Given the description of an element on the screen output the (x, y) to click on. 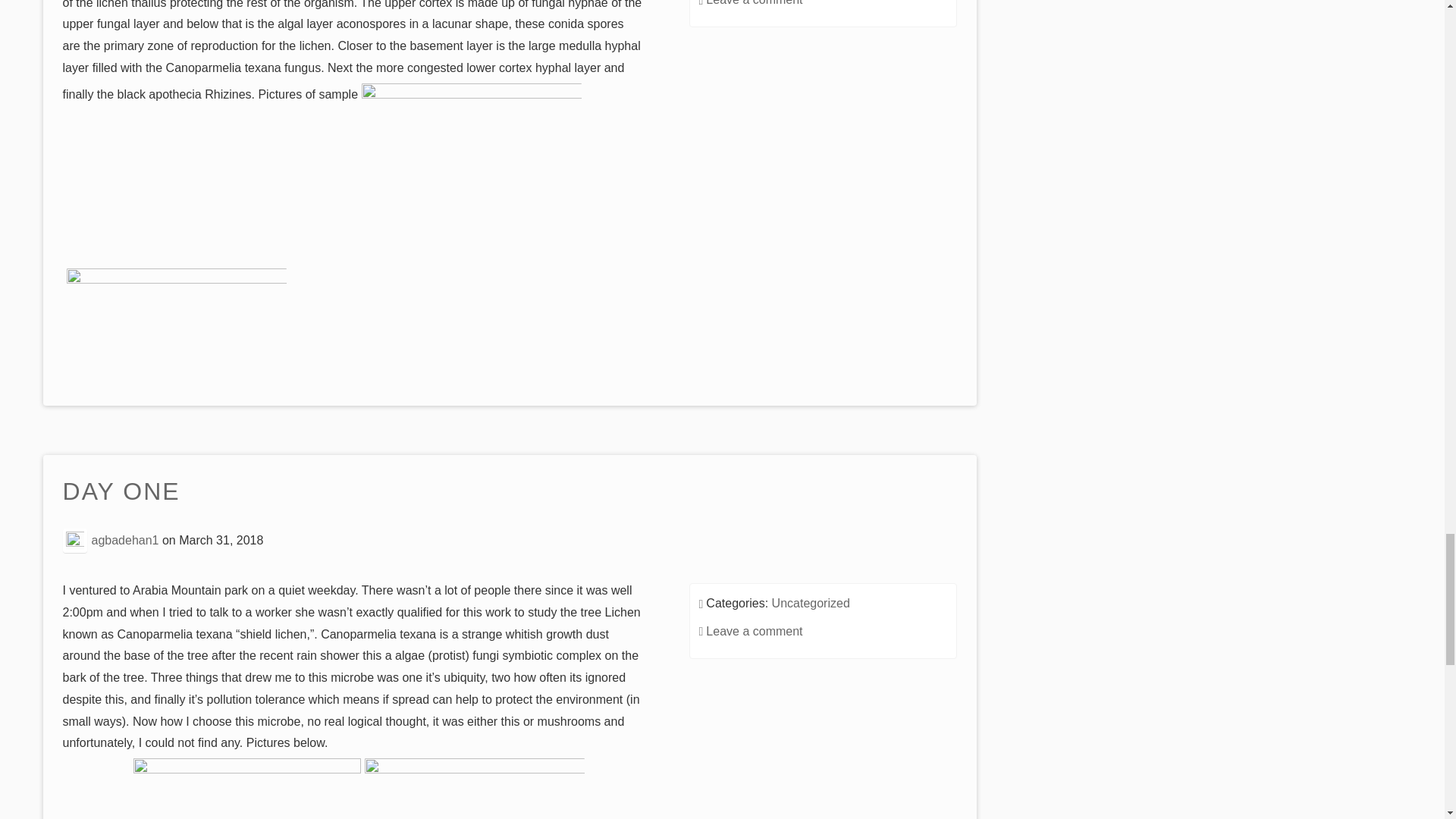
DAY ONE (121, 492)
agbadehan1 (124, 540)
Uncategorized (810, 603)
Leave a comment (754, 2)
Leave a comment (754, 631)
